Given the description of an element on the screen output the (x, y) to click on. 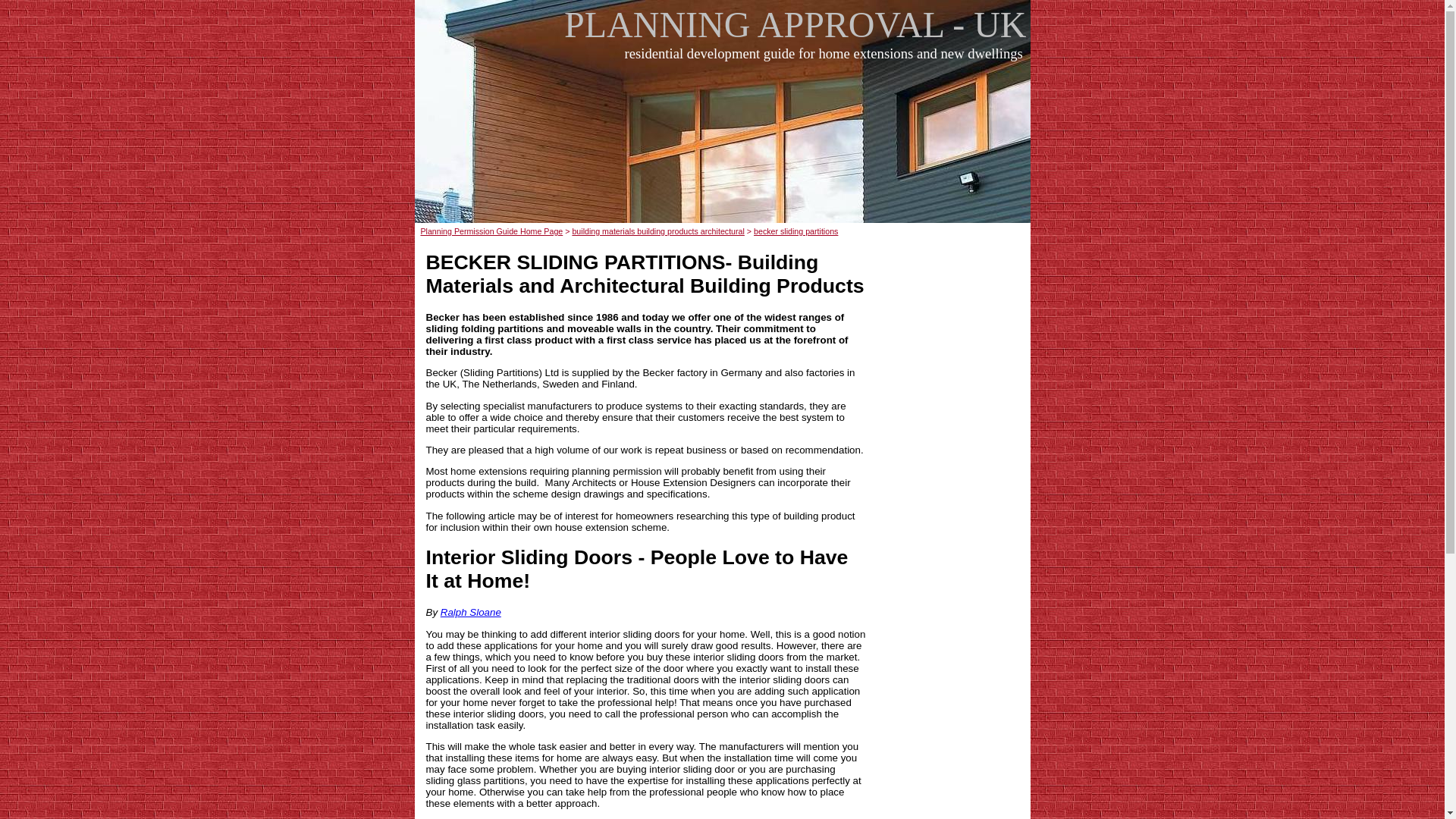
Advertisement (726, 151)
becker sliding partitions (796, 230)
building materials building products architectural (658, 230)
Ralph Sloane (470, 612)
EzineArticles Expert Author Ralph Sloane (470, 612)
Planning Permission Guide Home Page (491, 230)
